Given the description of an element on the screen output the (x, y) to click on. 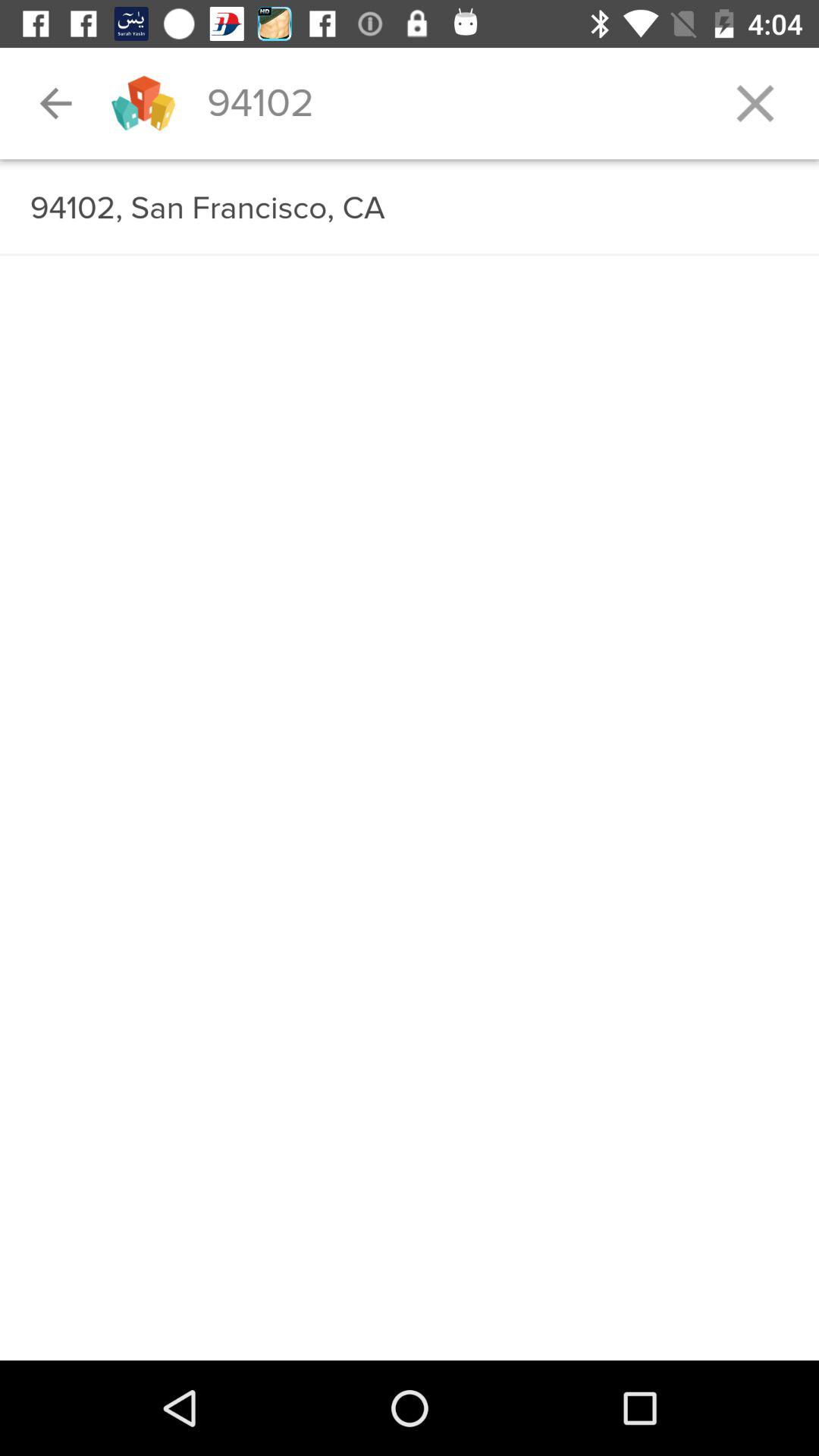
choose the icon at the top right corner (755, 103)
